Given the description of an element on the screen output the (x, y) to click on. 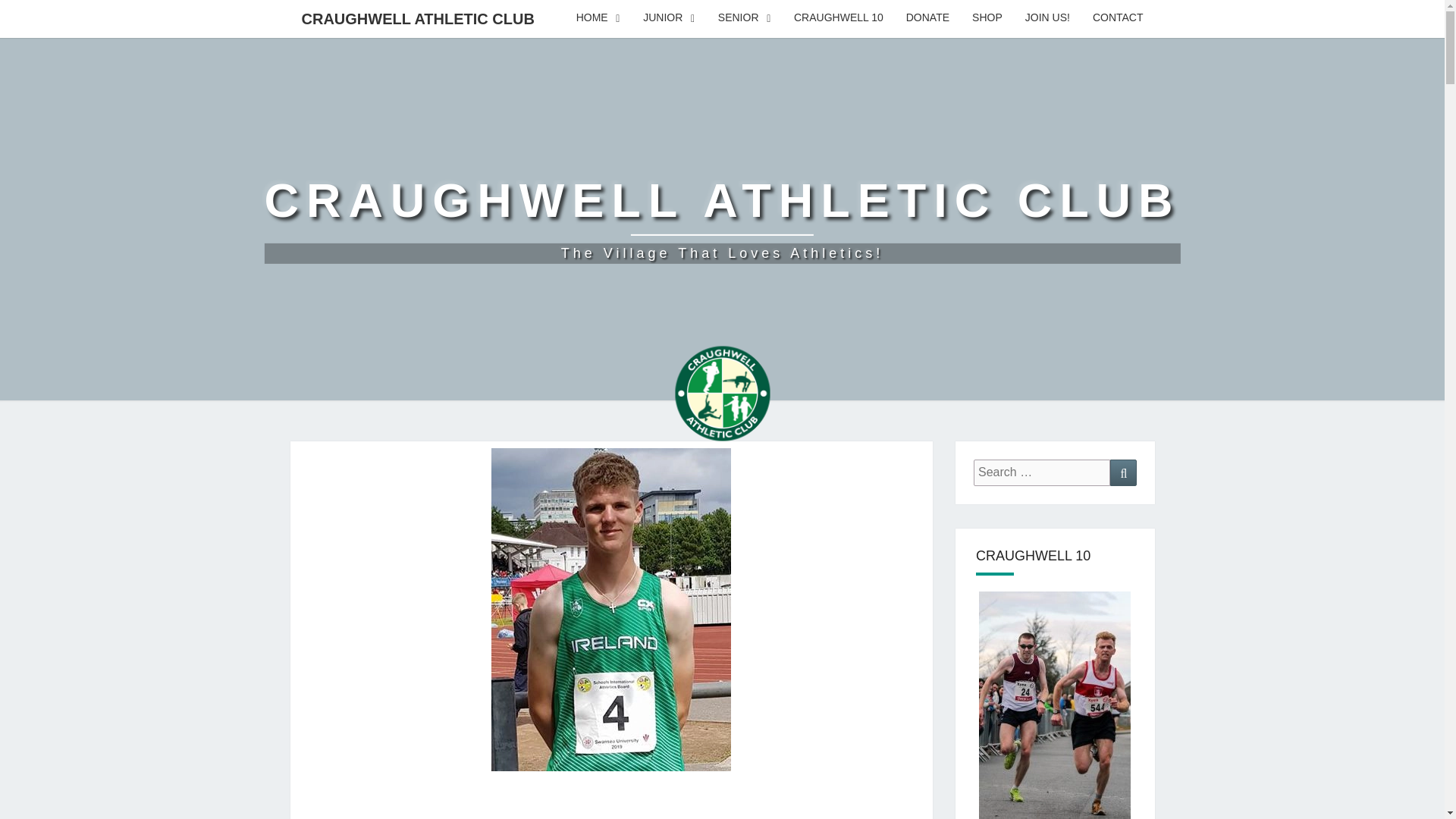
CRAUGHWELL ATHLETIC CLUB (416, 18)
HOME (597, 18)
Craughwell Athletic Club (721, 218)
CRAUGHWELL 10 (839, 18)
Craughwell Athletic Club (722, 399)
SENIOR (744, 18)
DONATE (721, 218)
CONTACT (927, 18)
JUNIOR (1117, 18)
